Given the description of an element on the screen output the (x, y) to click on. 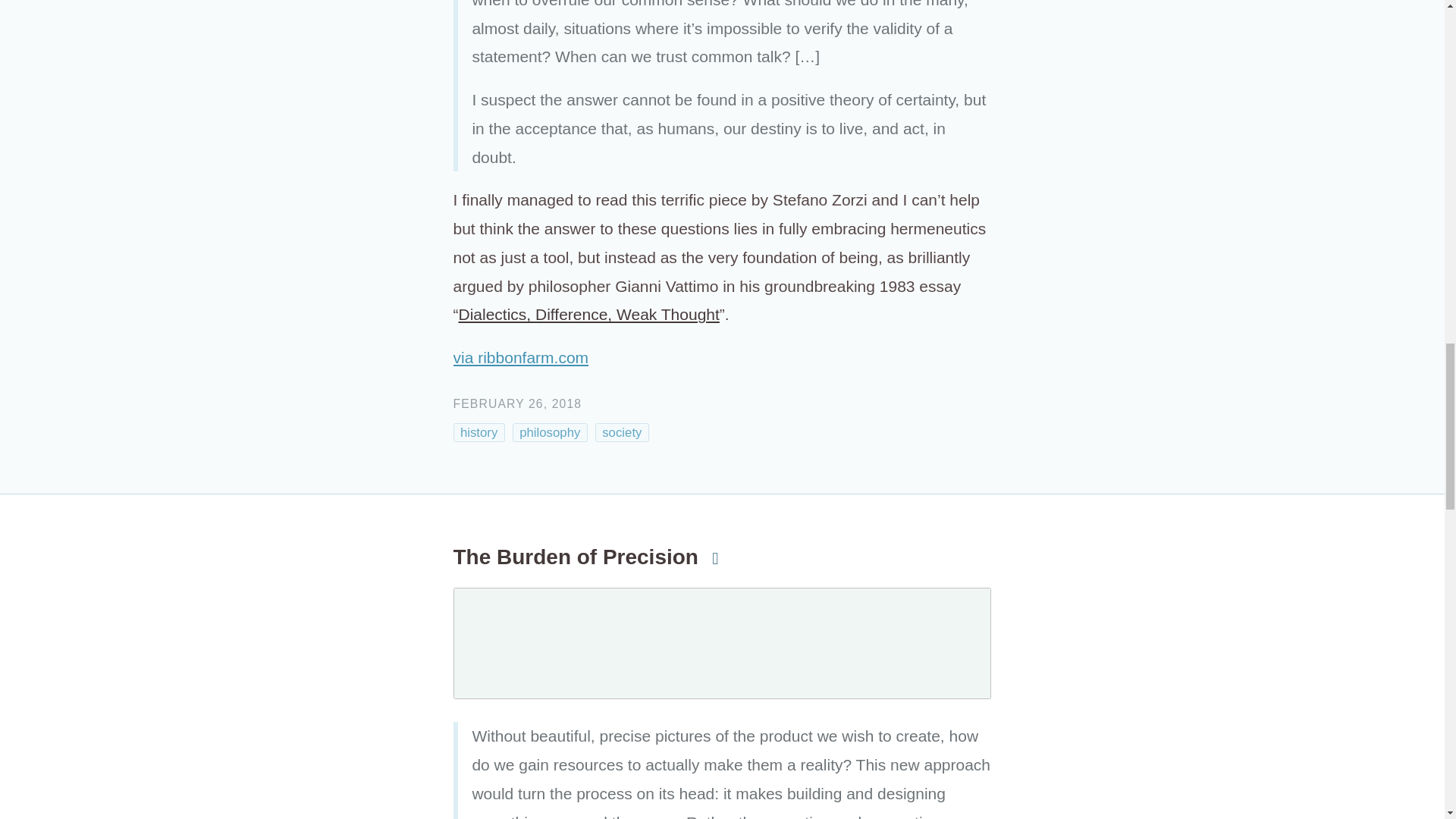
history (478, 432)
society (622, 432)
via ribbonfarm.com (520, 357)
philosophy (550, 432)
The Burden of Precision (587, 556)
Dialectics, Difference, Weak Thought (588, 313)
FEBRUARY 26, 2018 (517, 403)
